Given the description of an element on the screen output the (x, y) to click on. 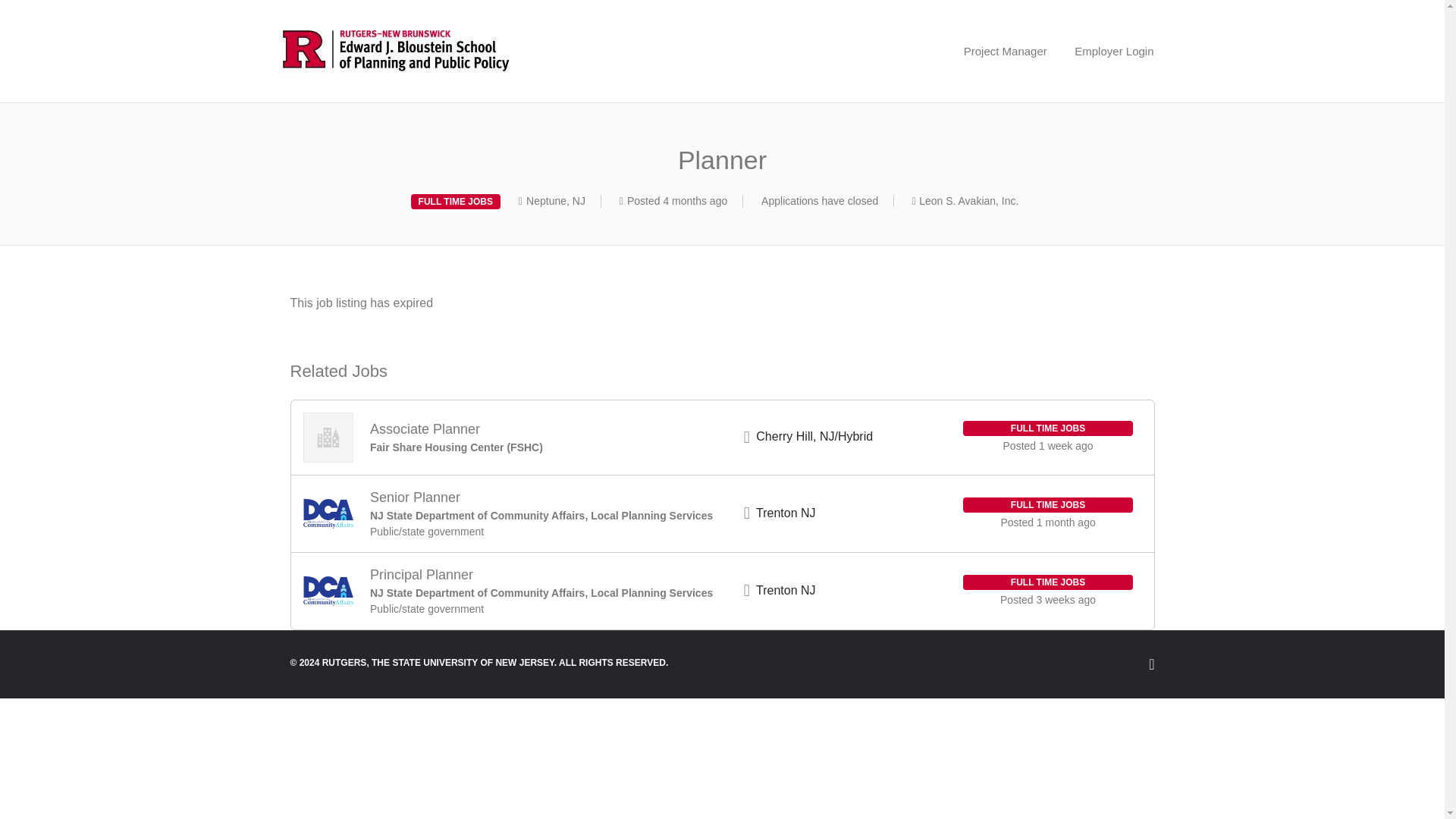
Employer Login (1114, 51)
Trenton NJ (785, 590)
Leon S. Avakian, Inc. (967, 200)
Neptune, NJ (555, 200)
Trenton NJ (785, 512)
Project Manager (1005, 51)
